Given the description of an element on the screen output the (x, y) to click on. 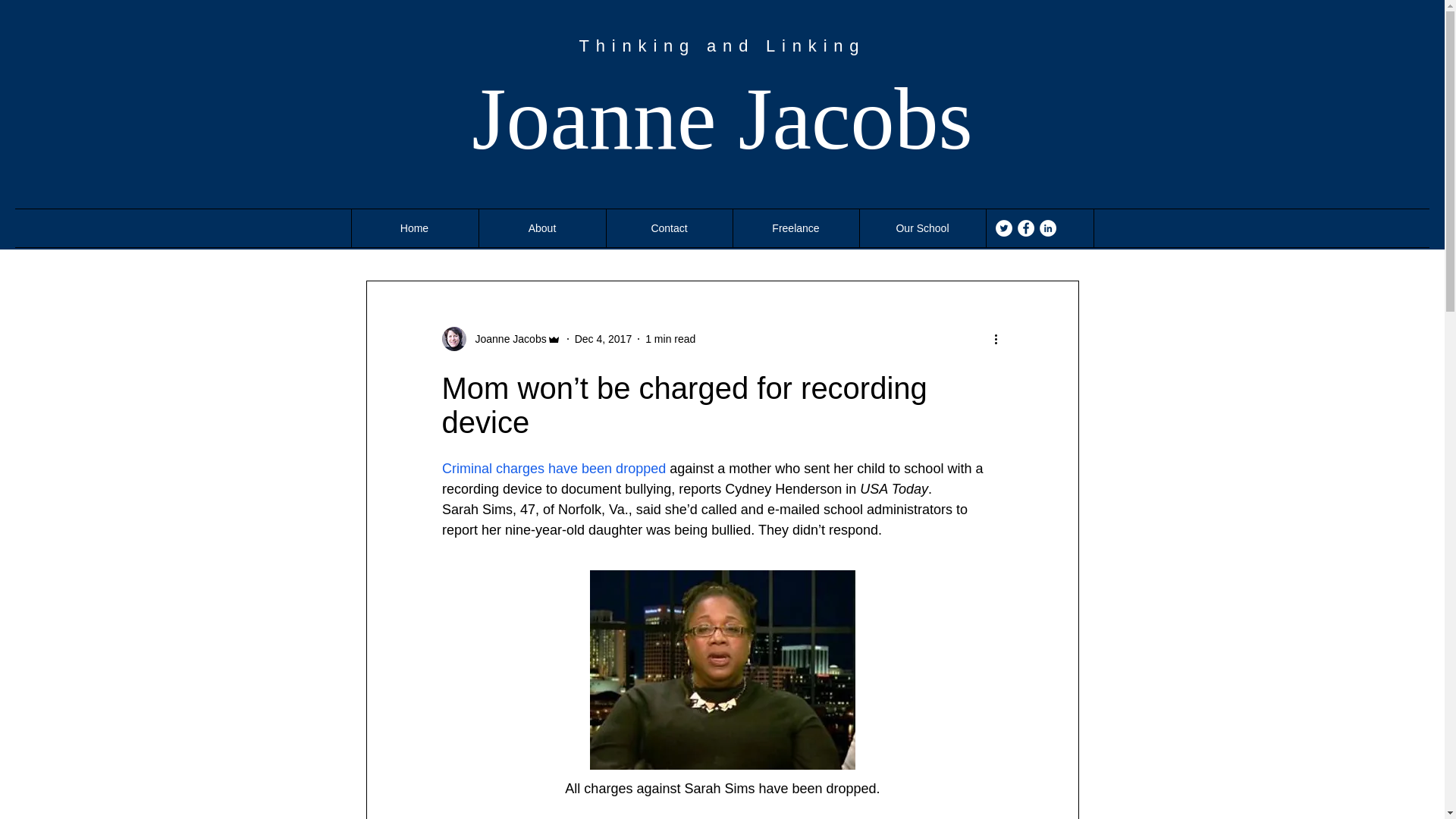
Freelance (795, 228)
Contact (668, 228)
Our School (922, 228)
Joanne Jacobs (505, 338)
About (541, 228)
1 min read (670, 337)
Dec 4, 2017 (603, 337)
Criminal charges have been dropped (553, 468)
Joanne Jacobs (721, 118)
Home (413, 228)
